Given the description of an element on the screen output the (x, y) to click on. 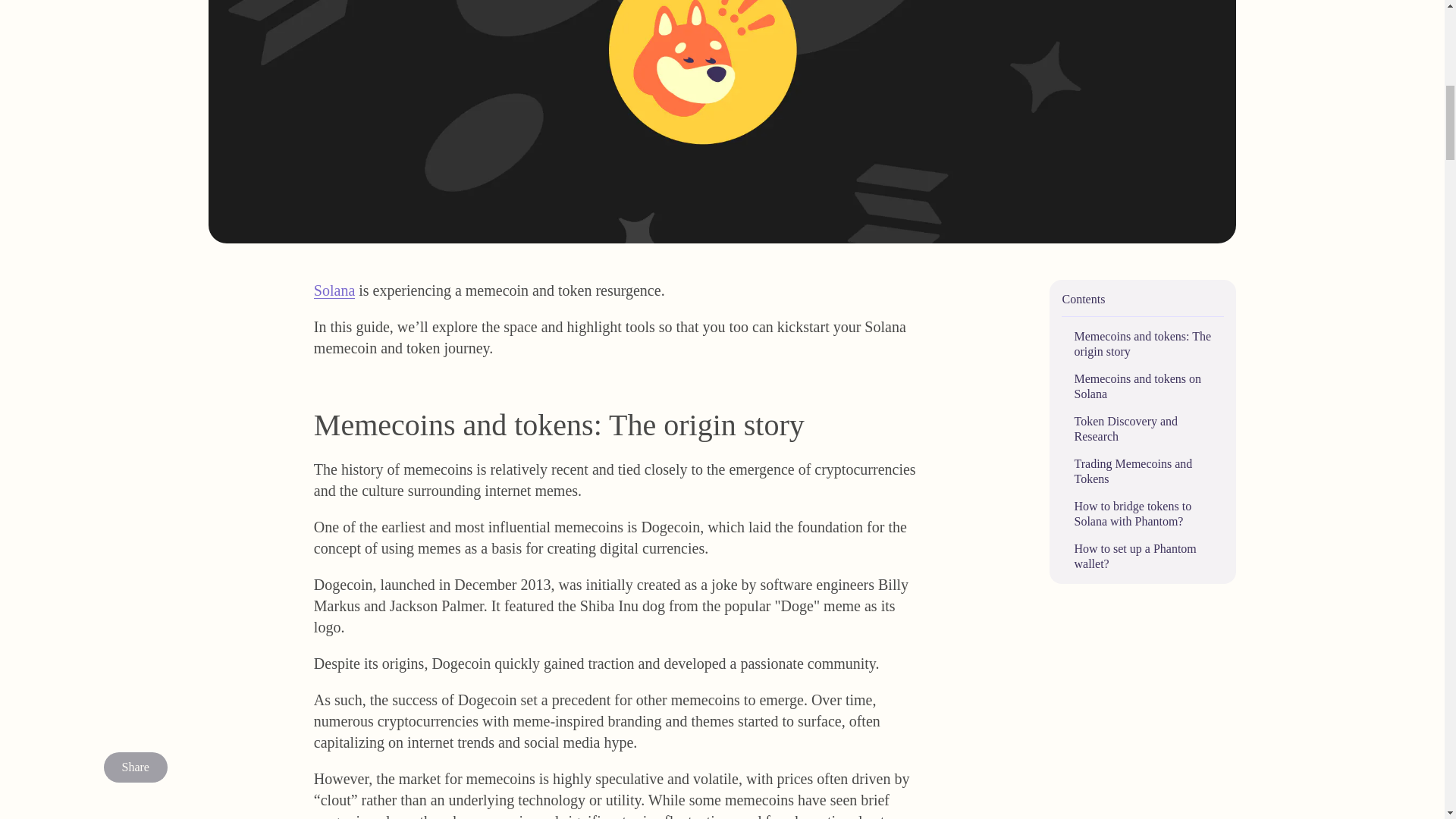
How to set up a Phantom wallet? (1142, 556)
Memecoins and tokens: The origin story (1142, 344)
Memecoins and tokens on Solana (1142, 386)
Trading Memecoins and Tokens (1142, 471)
Solana (334, 289)
How to bridge tokens to Solana with Phantom? (1142, 513)
Token Discovery and Research (1142, 429)
